Given the description of an element on the screen output the (x, y) to click on. 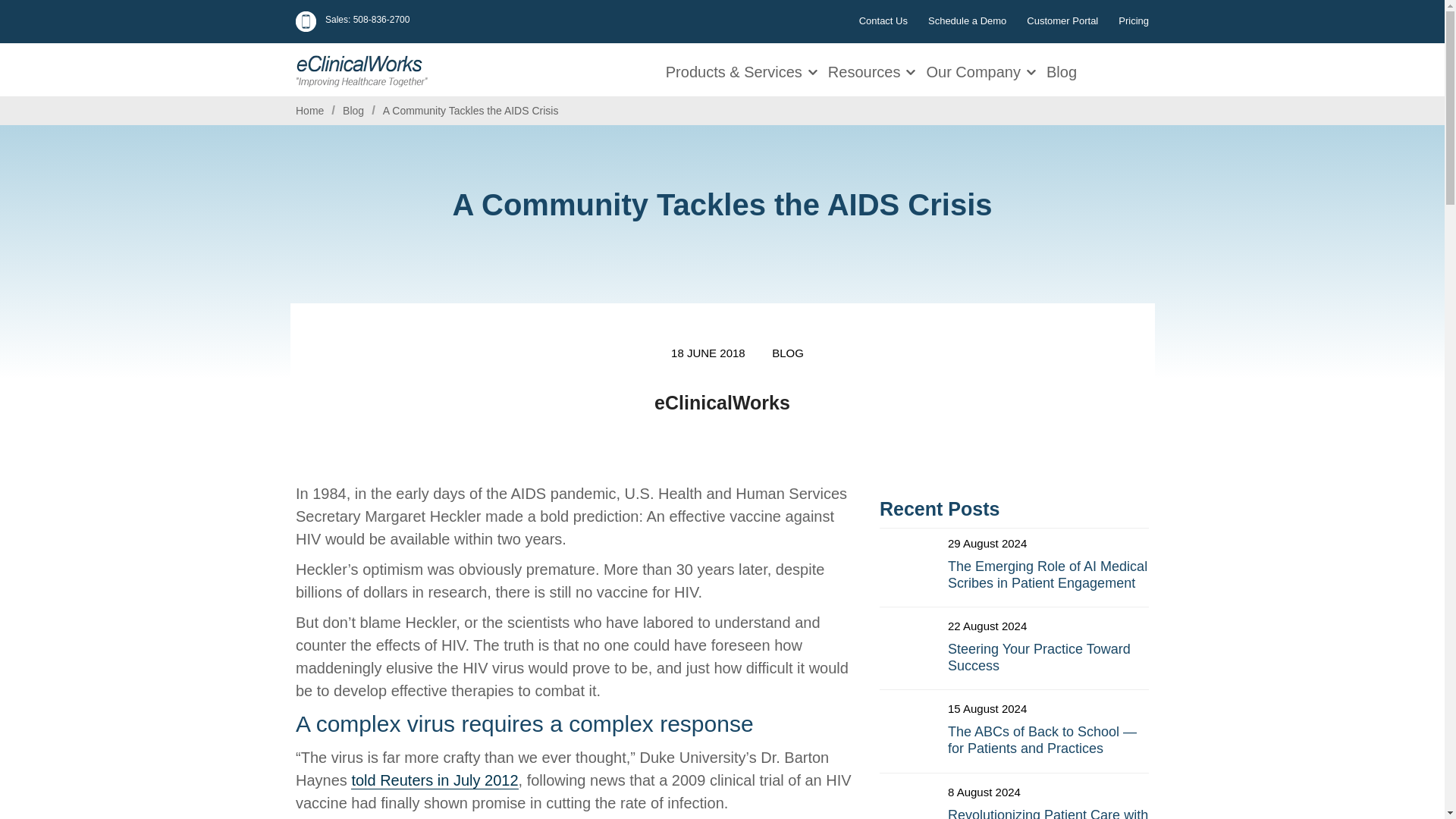
Contact Us (883, 20)
Resources (865, 69)
Customer Portal (1061, 20)
Our Company (975, 69)
Customer Portal (1061, 20)
Pricing (1133, 20)
Blog (353, 110)
Schedule a Demo (967, 20)
Home (309, 110)
Contact Us (883, 20)
